Given the description of an element on the screen output the (x, y) to click on. 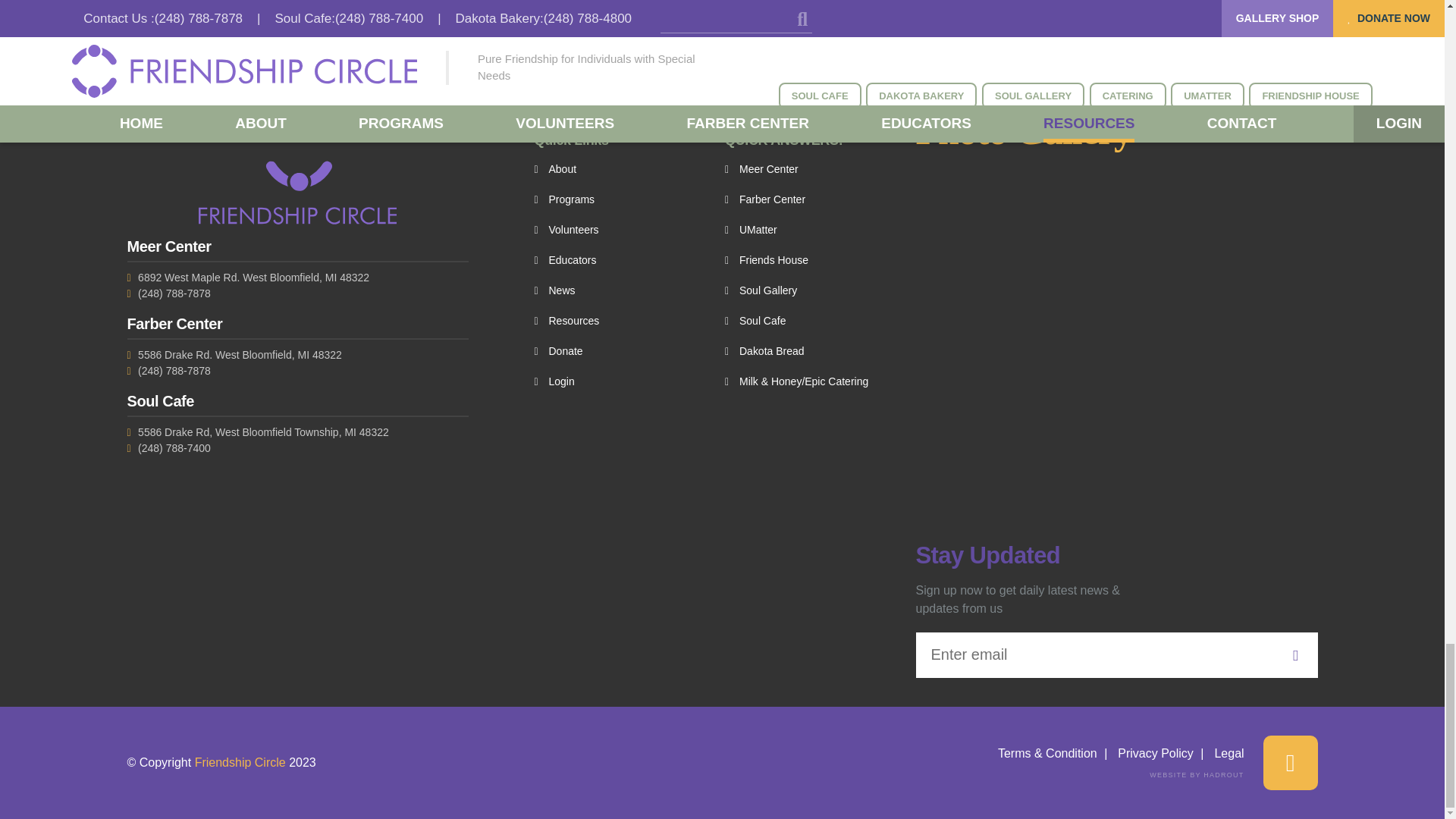
Volunteers (566, 229)
Programs (564, 199)
Educators (564, 260)
About (555, 169)
